Given the description of an element on the screen output the (x, y) to click on. 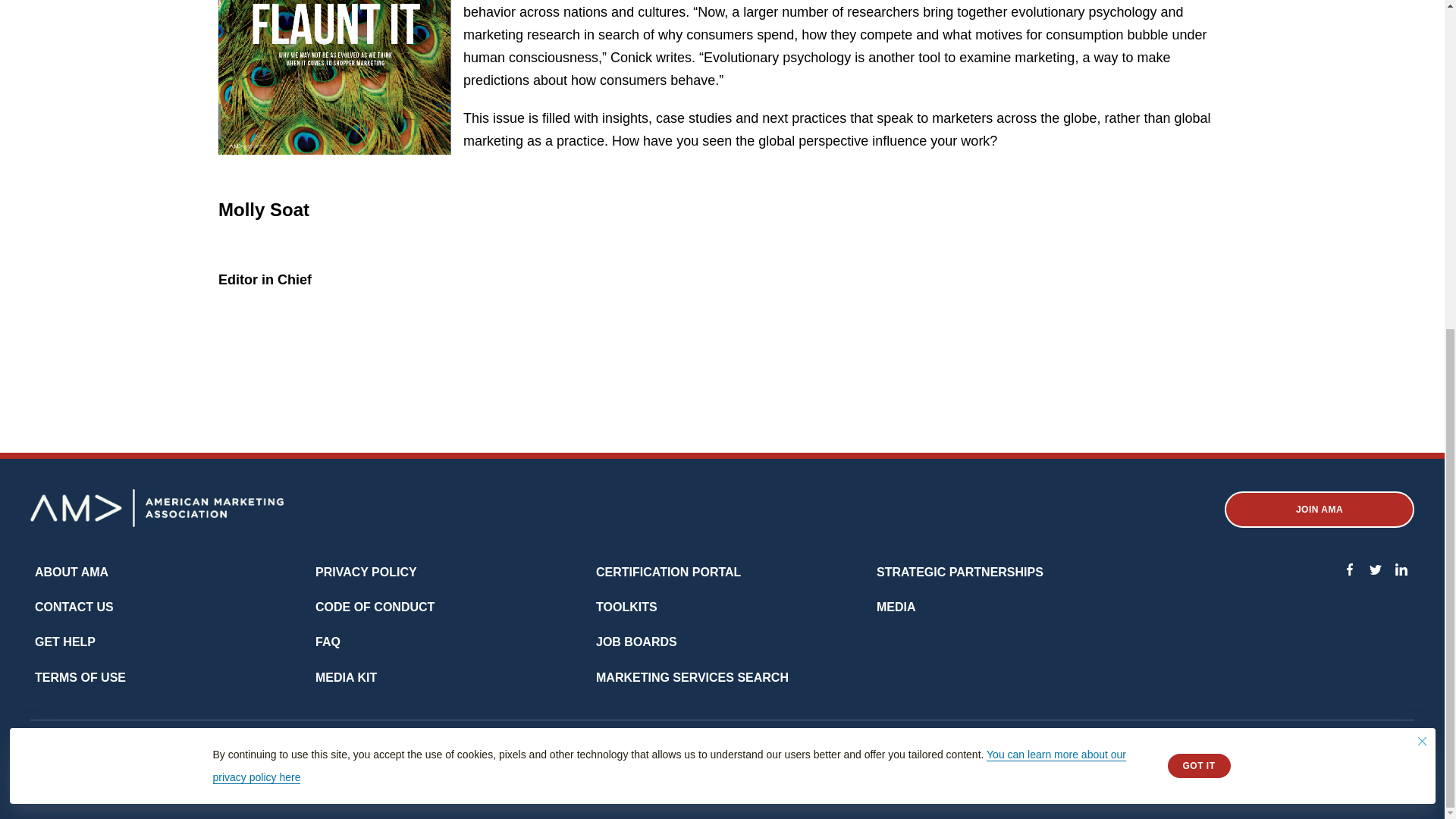
JOIN AMA (1318, 509)
CONTACT US (73, 607)
ABOUT AMA (70, 572)
GET HELP (65, 642)
TERMS OF USE (79, 677)
